Given the description of an element on the screen output the (x, y) to click on. 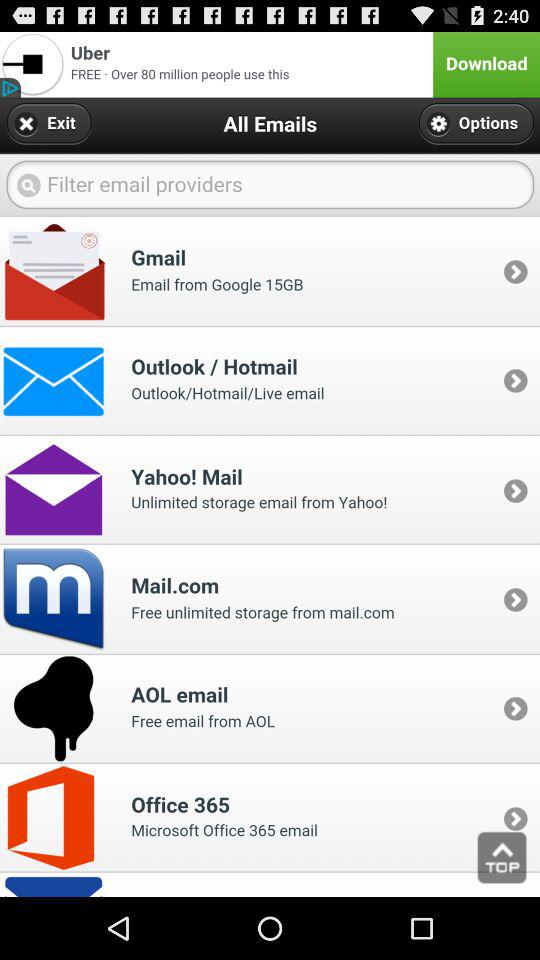
download an advertised app (270, 64)
